Given the description of an element on the screen output the (x, y) to click on. 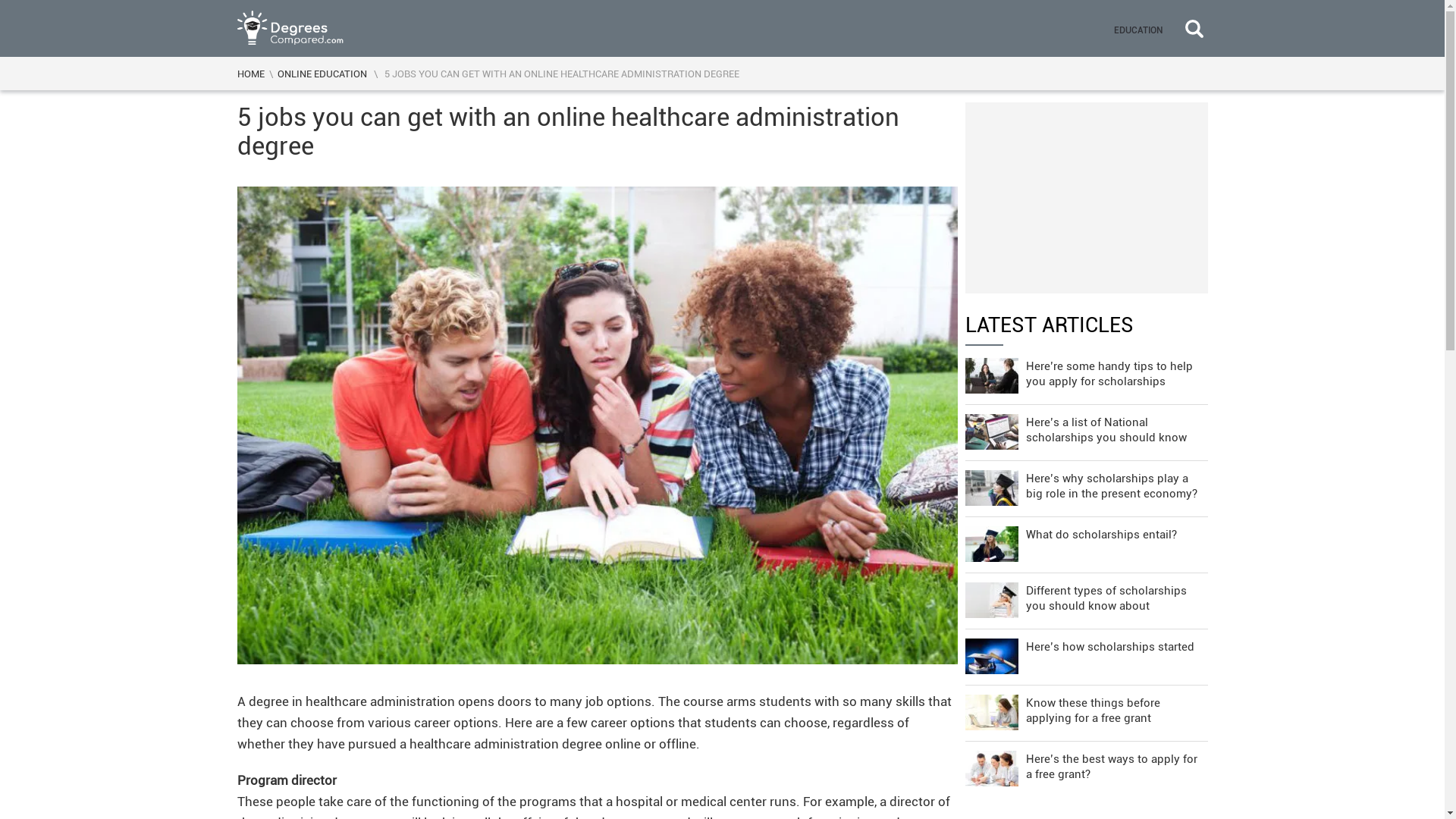
 Different types of scholarships you should know about (1085, 597)
HOME (249, 73)
Different types of scholarships you should know about (1085, 597)
ONLINE EDUCATION (322, 73)
Know these things before applying for a free grant (1085, 709)
EDUCATION (1137, 28)
 What do scholarships entail? (1085, 541)
What do scholarships entail? (1085, 541)
 Know these things before applying for a free grant (1085, 709)
